Given the description of an element on the screen output the (x, y) to click on. 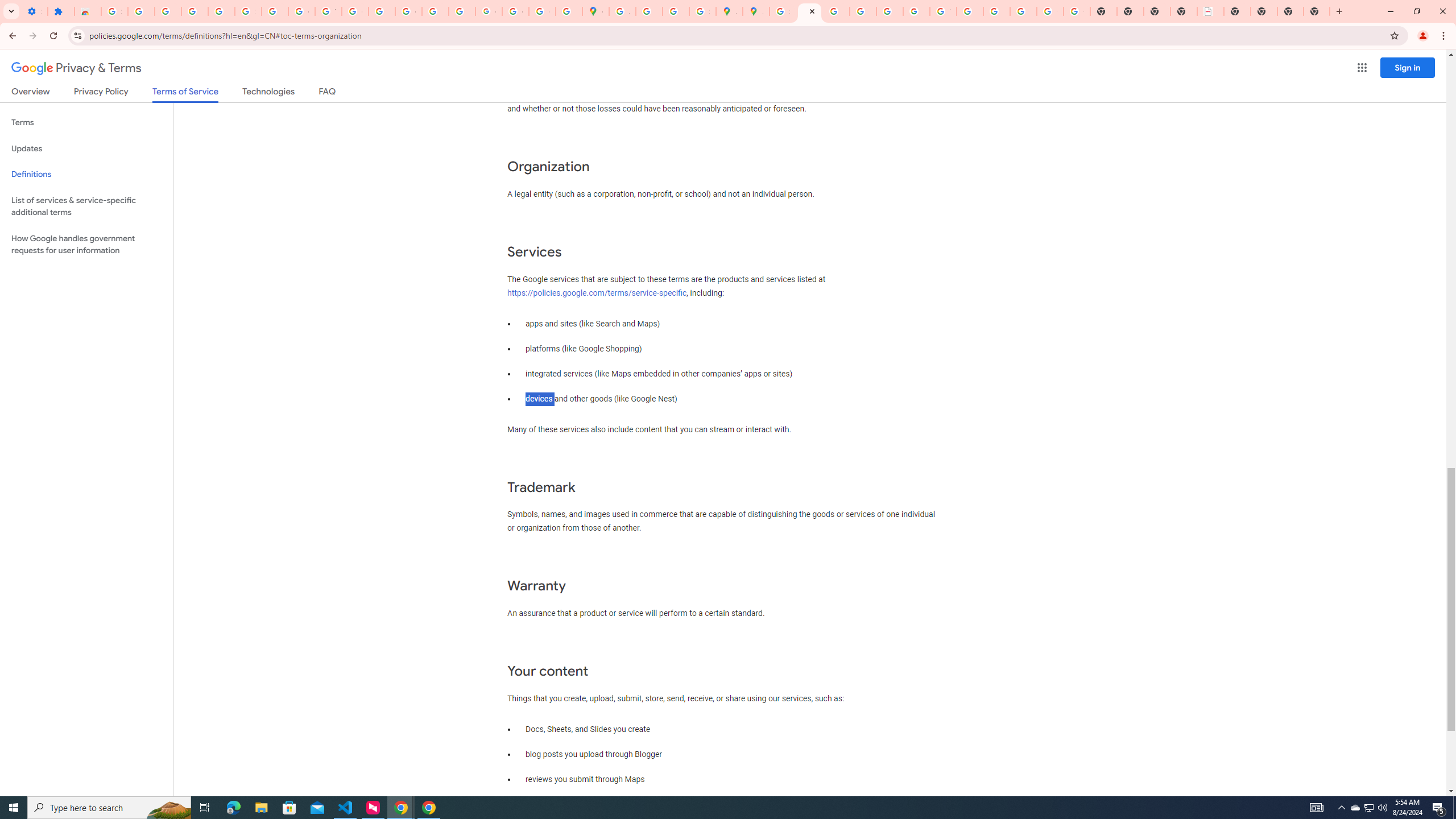
New Tab (1236, 11)
New Tab (1316, 11)
Google Maps (595, 11)
YouTube (943, 11)
https://scholar.google.com/ (382, 11)
